Given the description of an element on the screen output the (x, y) to click on. 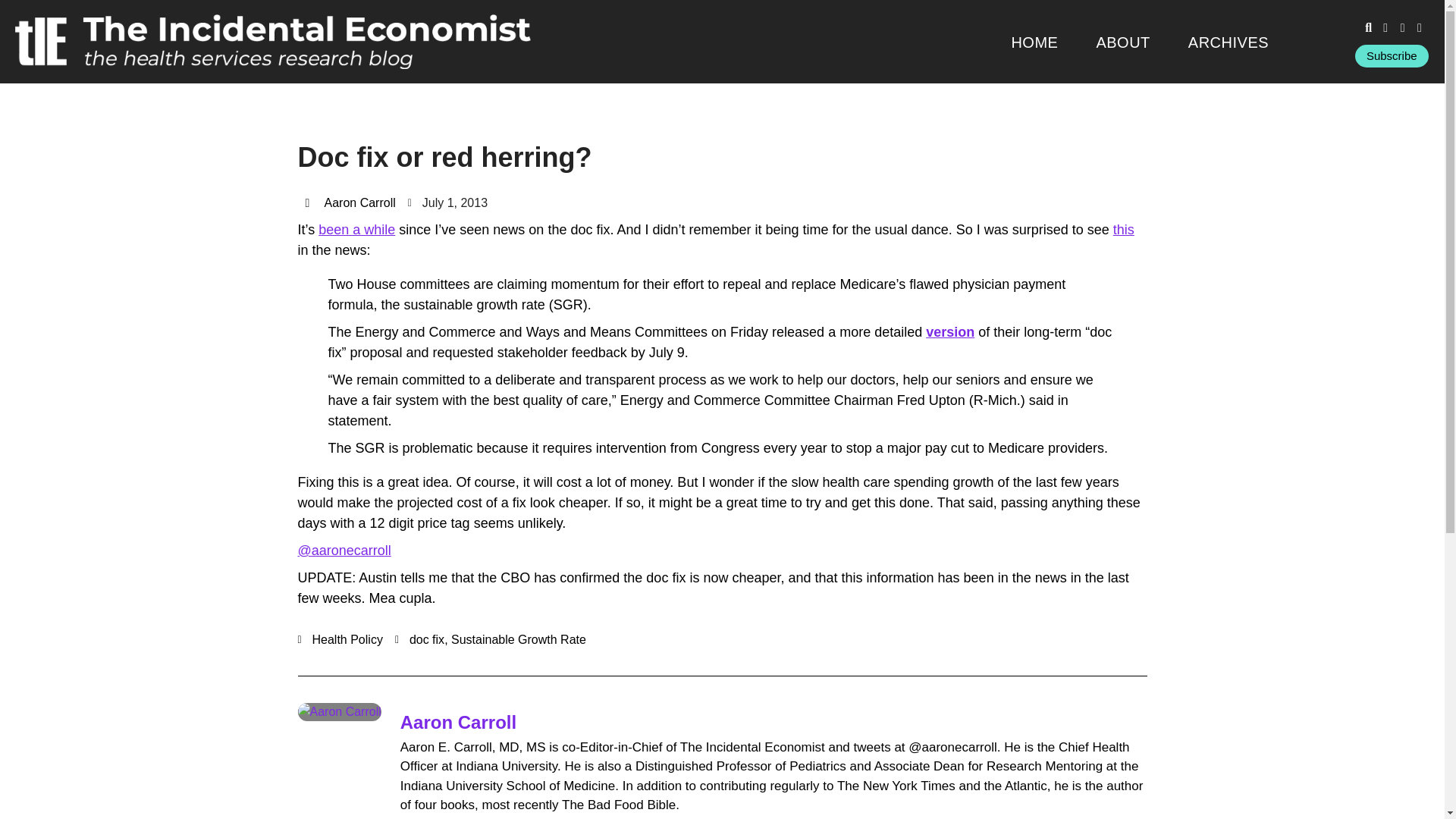
Aaron Carroll (458, 721)
Health Policy (347, 639)
this (1123, 229)
July 1, 2013 (447, 203)
ABOUT (1122, 41)
been a while (356, 229)
Aaron Carroll (349, 203)
version (950, 331)
HOME (1034, 41)
doc fix (426, 639)
